Given the description of an element on the screen output the (x, y) to click on. 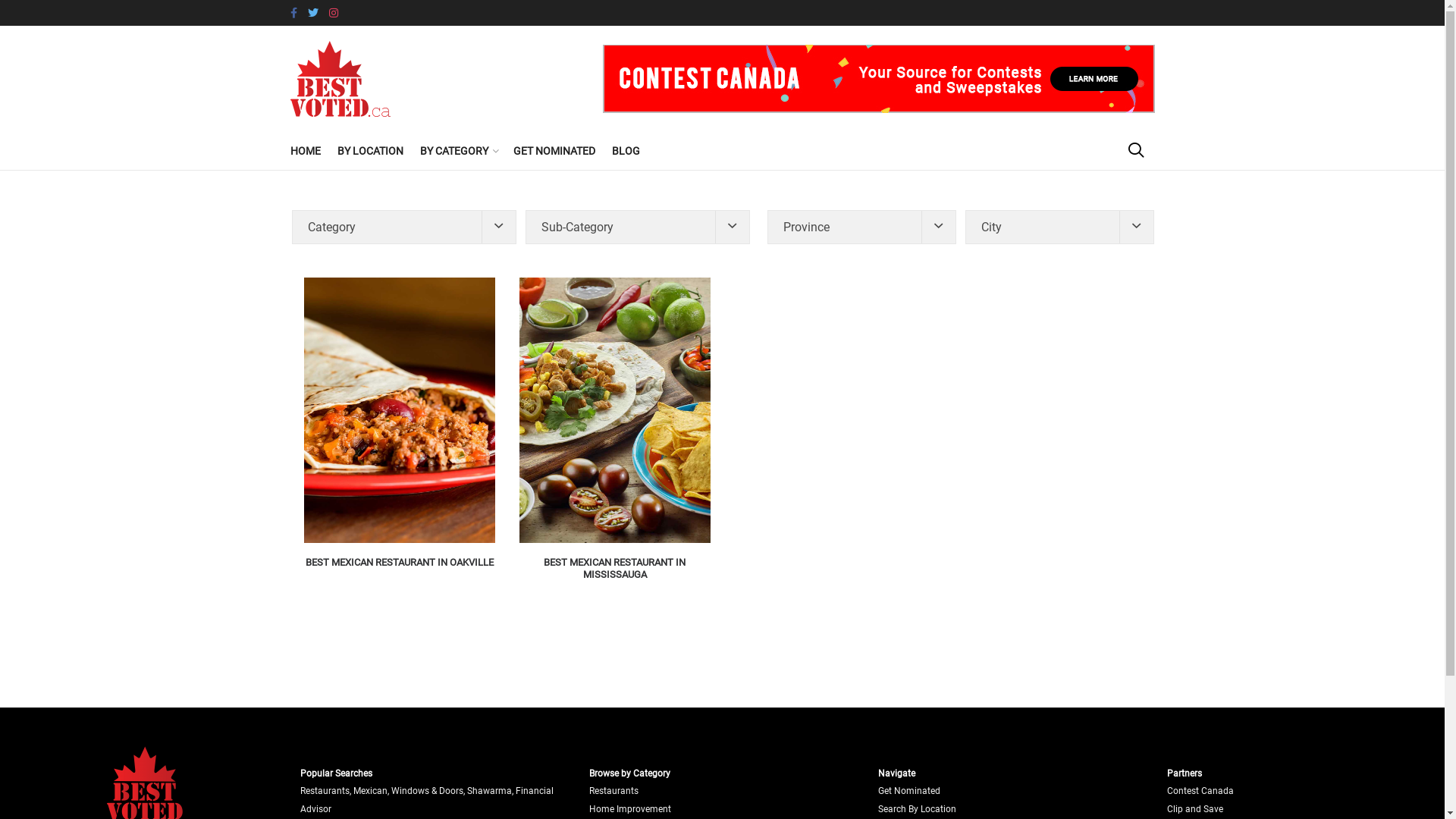
BY CATEGORY Element type: text (458, 150)
Element resize sensor Element type: hover (1058, 227)
Home Improvement Element type: text (630, 808)
Element resize sensor Element type: hover (636, 227)
Contest Canada Element type: text (1200, 790)
HOME Element type: text (304, 150)
GET NOMINATED Element type: text (553, 150)
Mexican Element type: text (370, 790)
Get Nominated Element type: text (909, 790)
Shawarma Element type: text (489, 790)
Search By Location Element type: text (917, 808)
Financial Advisor Element type: text (426, 799)
Restaurants Element type: text (613, 790)
BEST MEXICAN RESTAURANT IN OAKVILLE Element type: text (398, 561)
Clip and Save Element type: text (1195, 808)
BLOG Element type: text (625, 150)
Element resize sensor Element type: hover (403, 227)
Windows & Doors Element type: text (427, 790)
Element resize sensor Element type: hover (861, 227)
Restaurants Element type: text (324, 790)
BEST MEXICAN RESTAURANT IN MISSISSAUGA Element type: text (614, 568)
Element resize sensor Element type: hover (721, 219)
BY LOCATION Element type: text (369, 150)
Element resize sensor Element type: hover (721, 423)
